Given the description of an element on the screen output the (x, y) to click on. 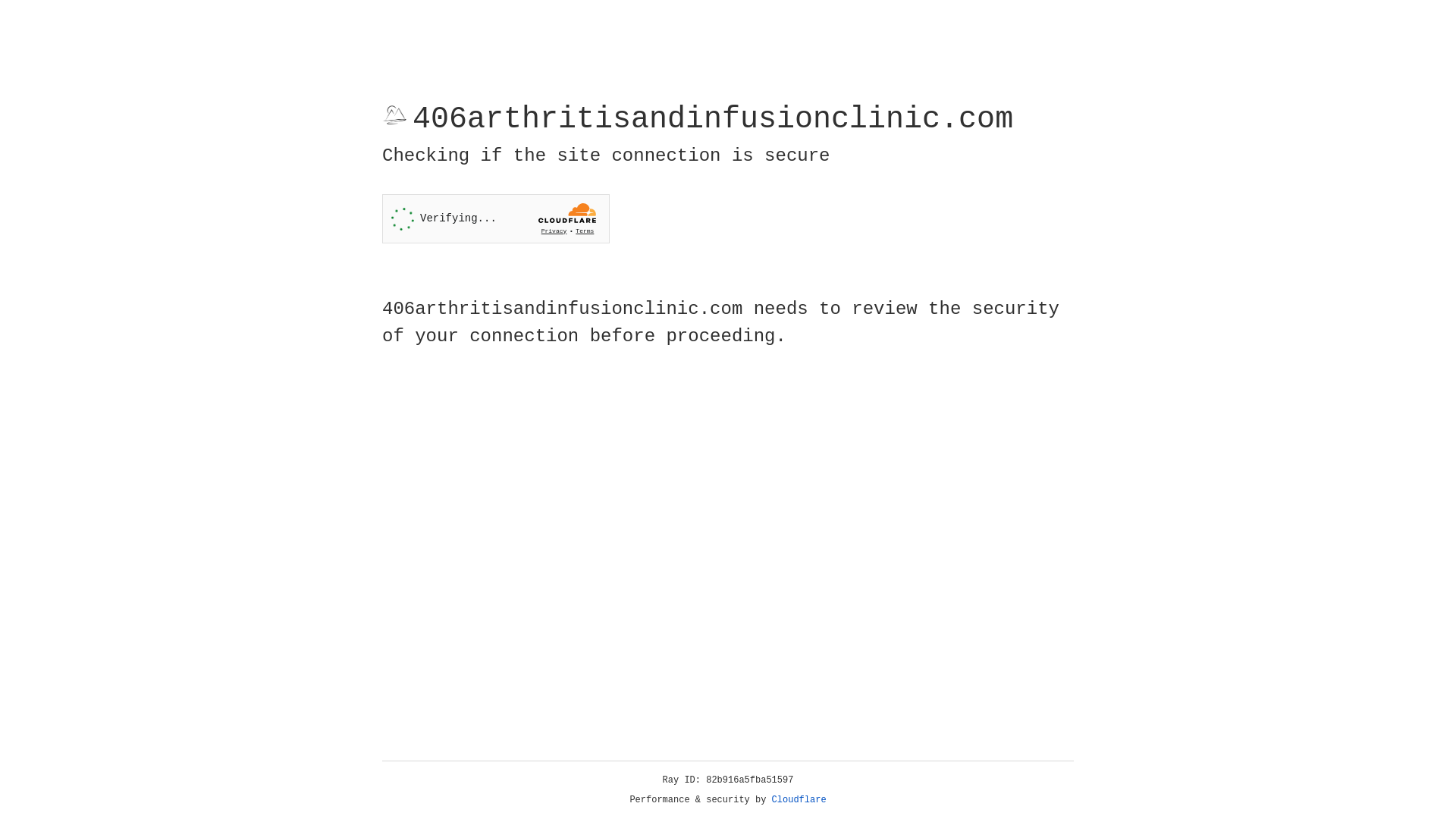
Cloudflare Element type: text (798, 799)
Widget containing a Cloudflare security challenge Element type: hover (495, 218)
